Given the description of an element on the screen output the (x, y) to click on. 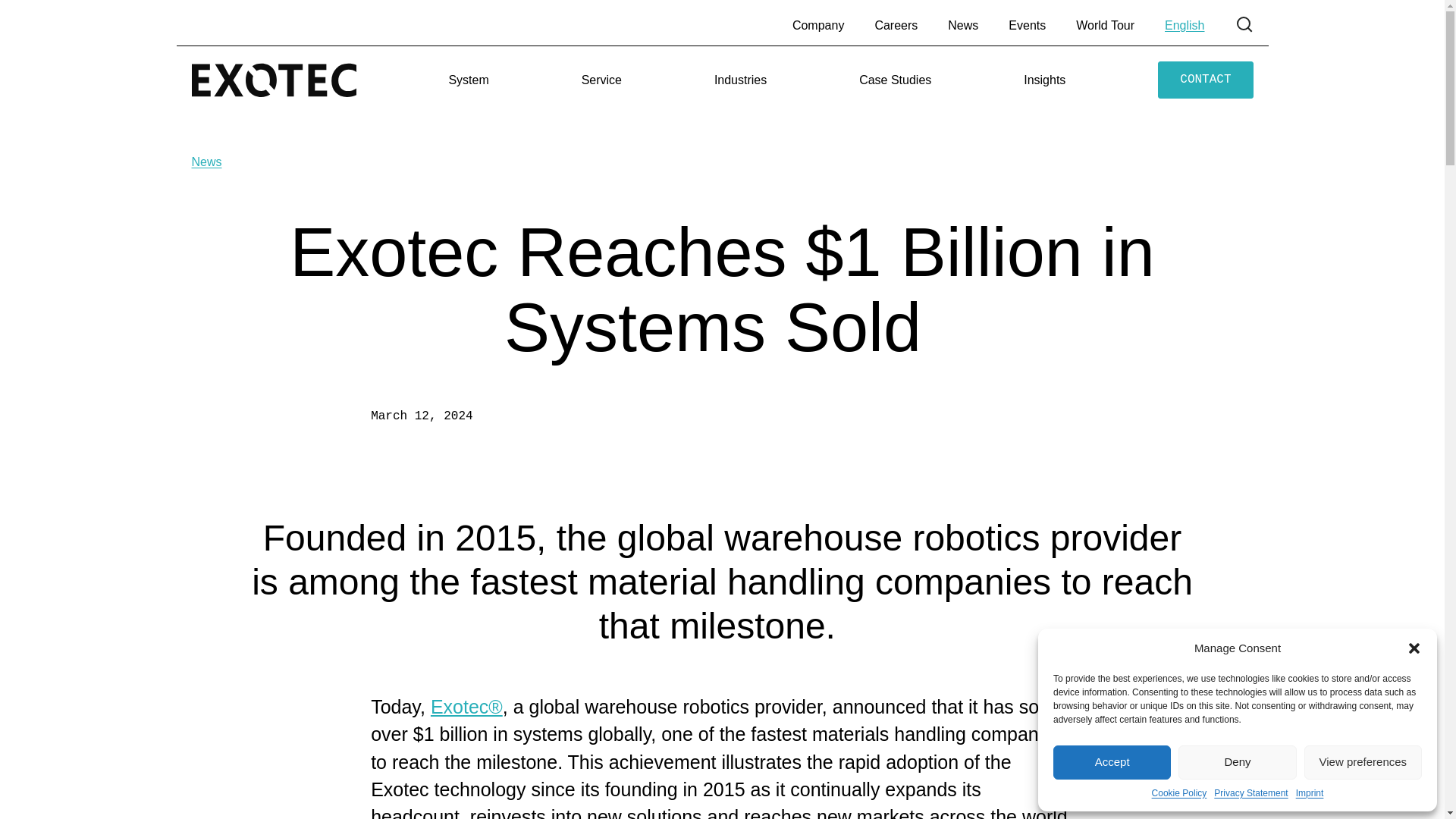
Company (818, 24)
View preferences (1363, 762)
English (1184, 24)
News (962, 24)
Privacy Statement (1250, 793)
Events (1027, 24)
CONTACT (1204, 79)
Careers (896, 24)
Case Studies (895, 79)
World Tour (1104, 24)
Deny (1236, 762)
Imprint (1309, 793)
Cookie Policy (1179, 793)
System (467, 79)
Accept (1111, 762)
